Given the description of an element on the screen output the (x, y) to click on. 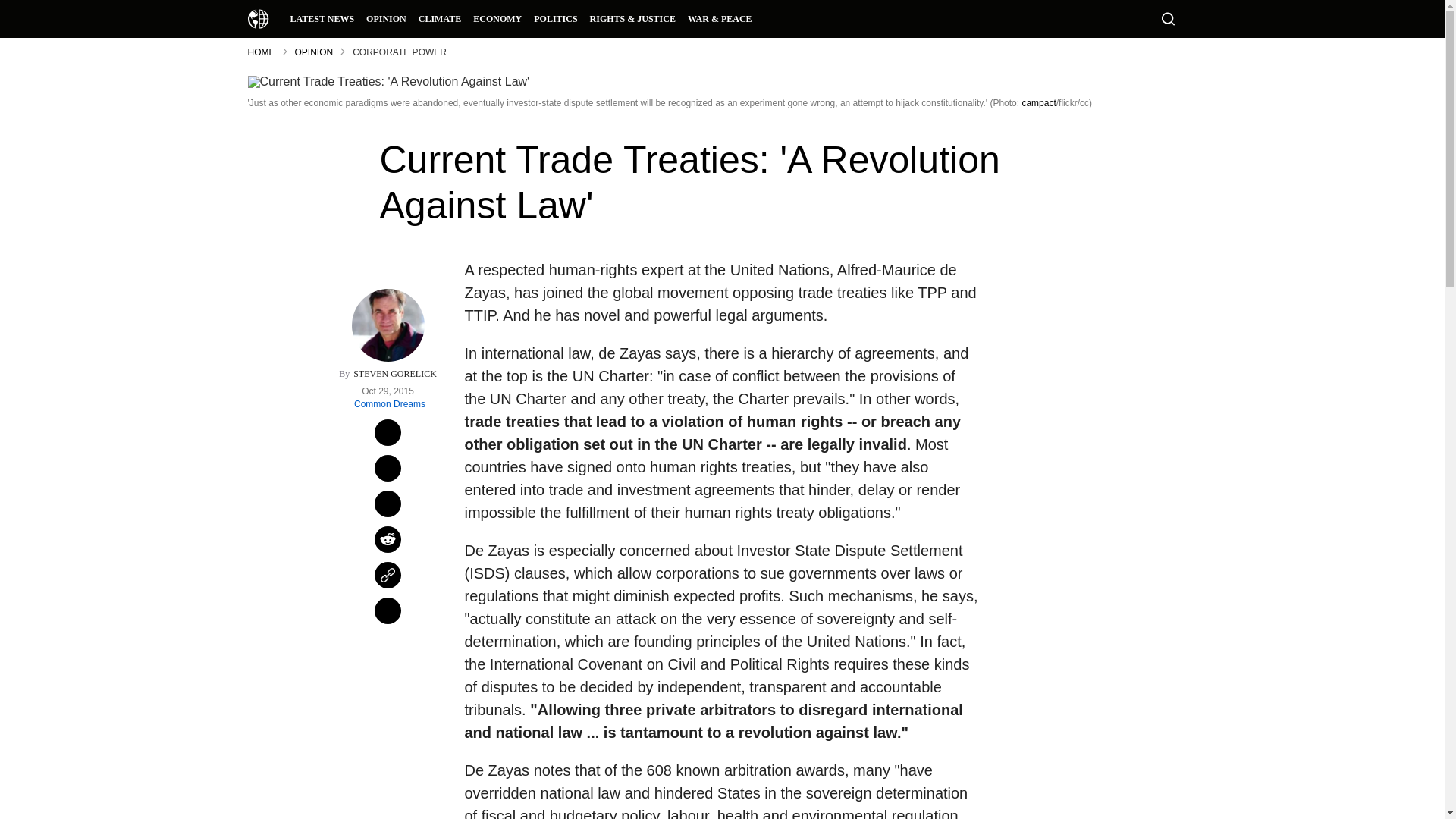
Common Dreams (257, 17)
Copy this link to clipboard (387, 574)
Go to campact's photostream (1038, 102)
